Given the description of an element on the screen output the (x, y) to click on. 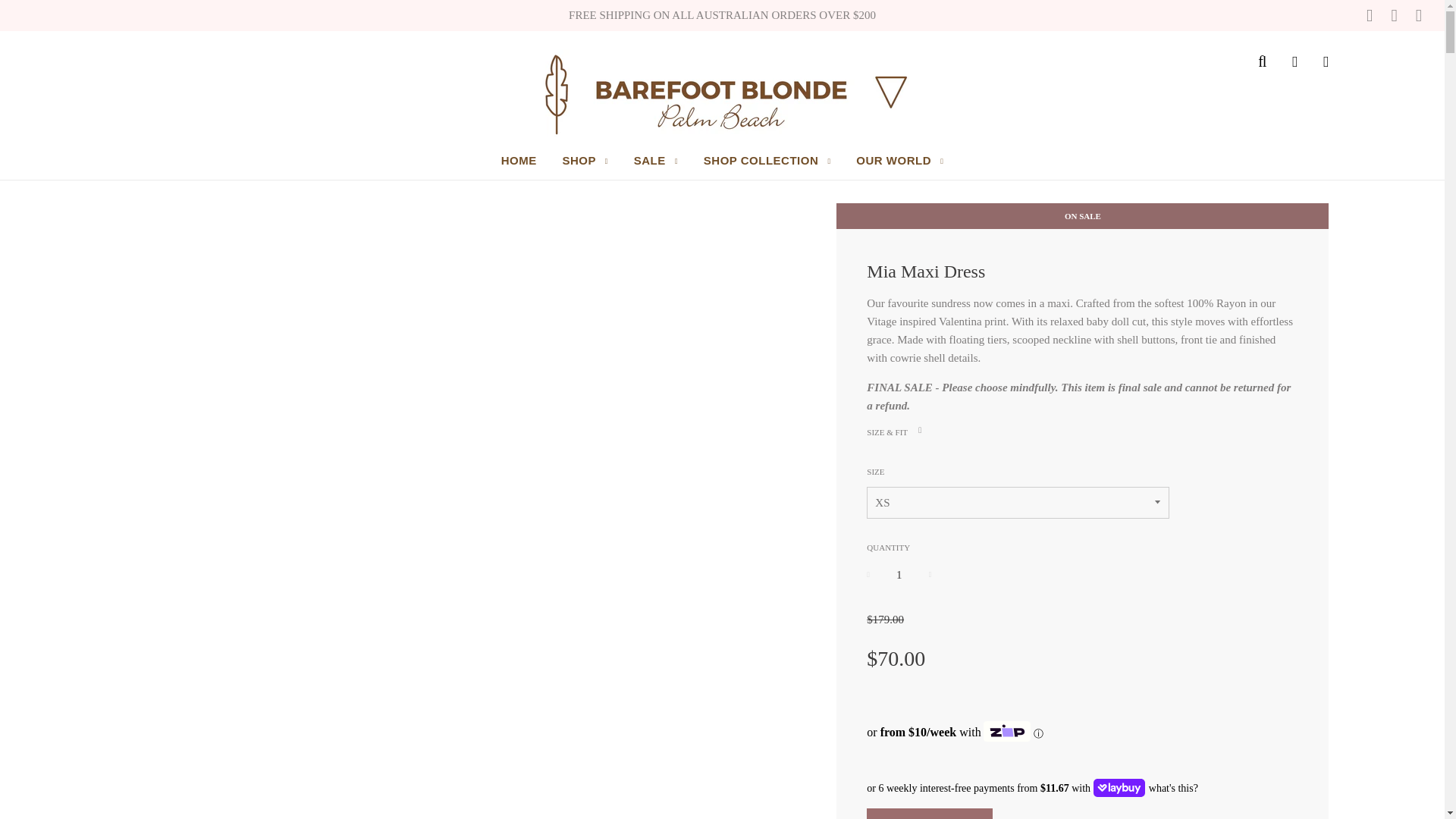
1 (898, 574)
